Given the description of an element on the screen output the (x, y) to click on. 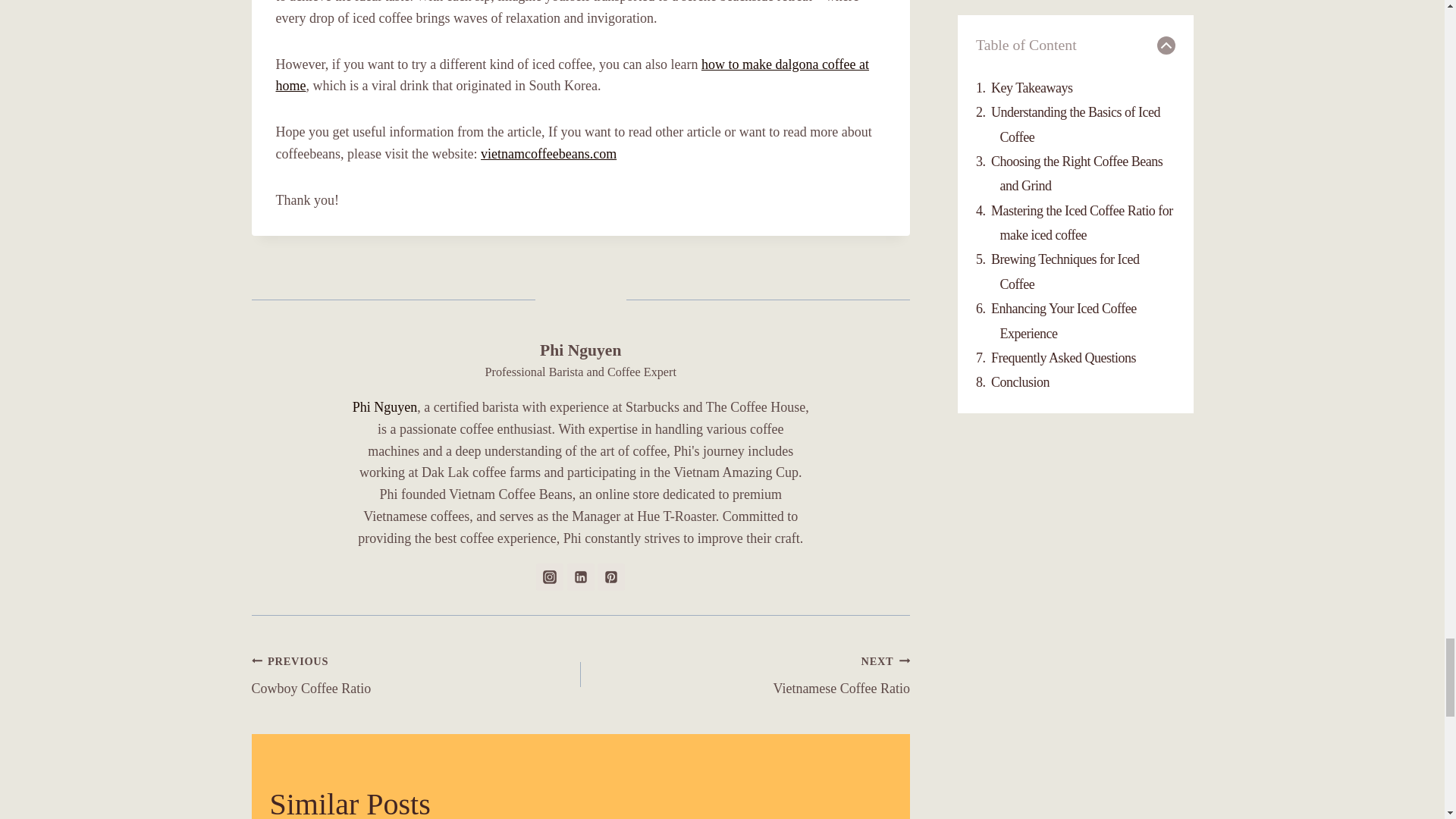
Follow Phi Nguyen on Linkedin (580, 576)
Posts by Phi Nguyen (580, 350)
Follow Phi Nguyen on Pinterest (610, 576)
vietnamcoffeebeans.com (547, 153)
Follow Phi Nguyen on Instagram (549, 576)
how to make dalgona coffee at home (572, 75)
Phi Nguyen (580, 350)
